Given the description of an element on the screen output the (x, y) to click on. 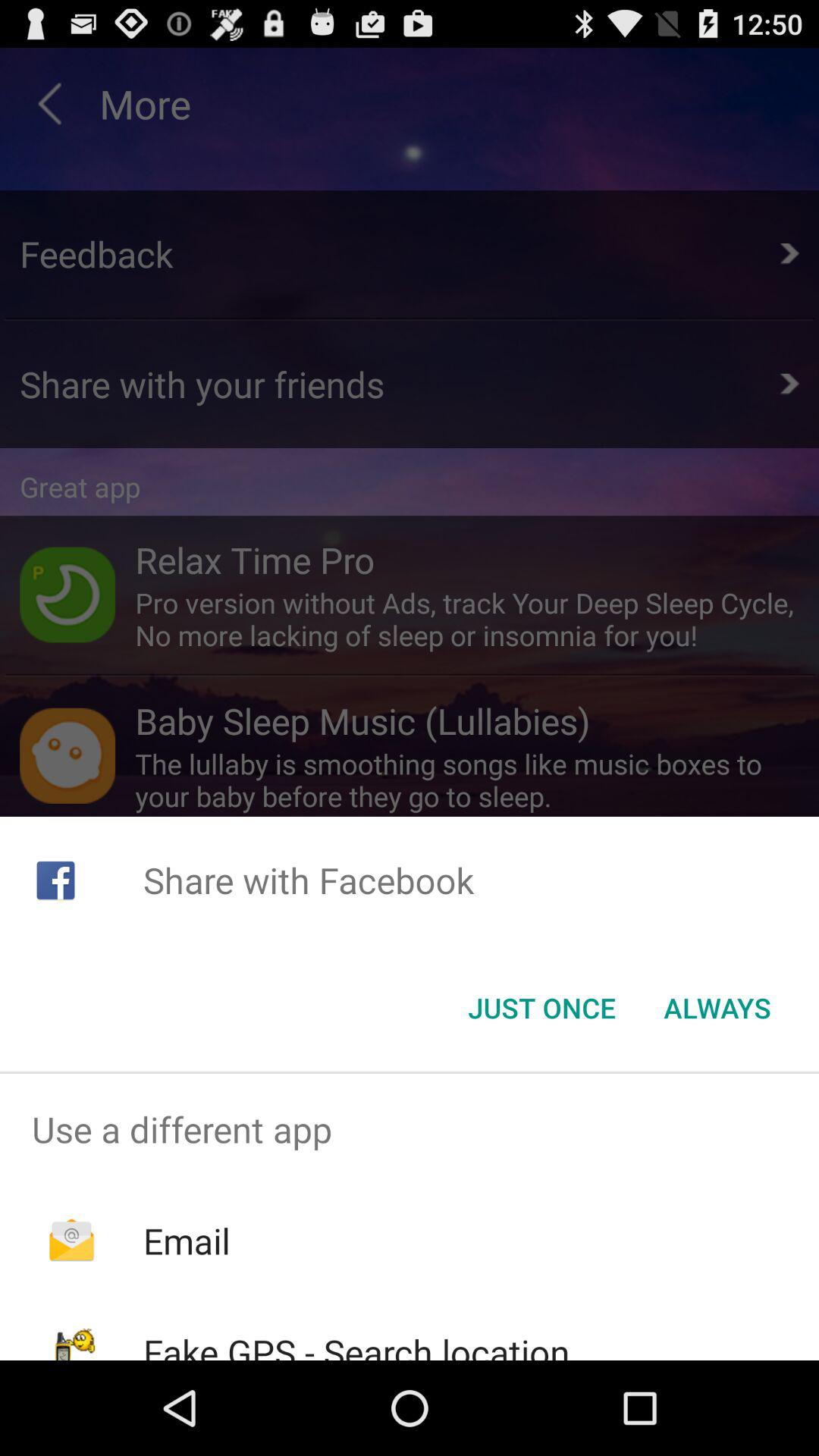
swipe to use a different item (409, 1129)
